Given the description of an element on the screen output the (x, y) to click on. 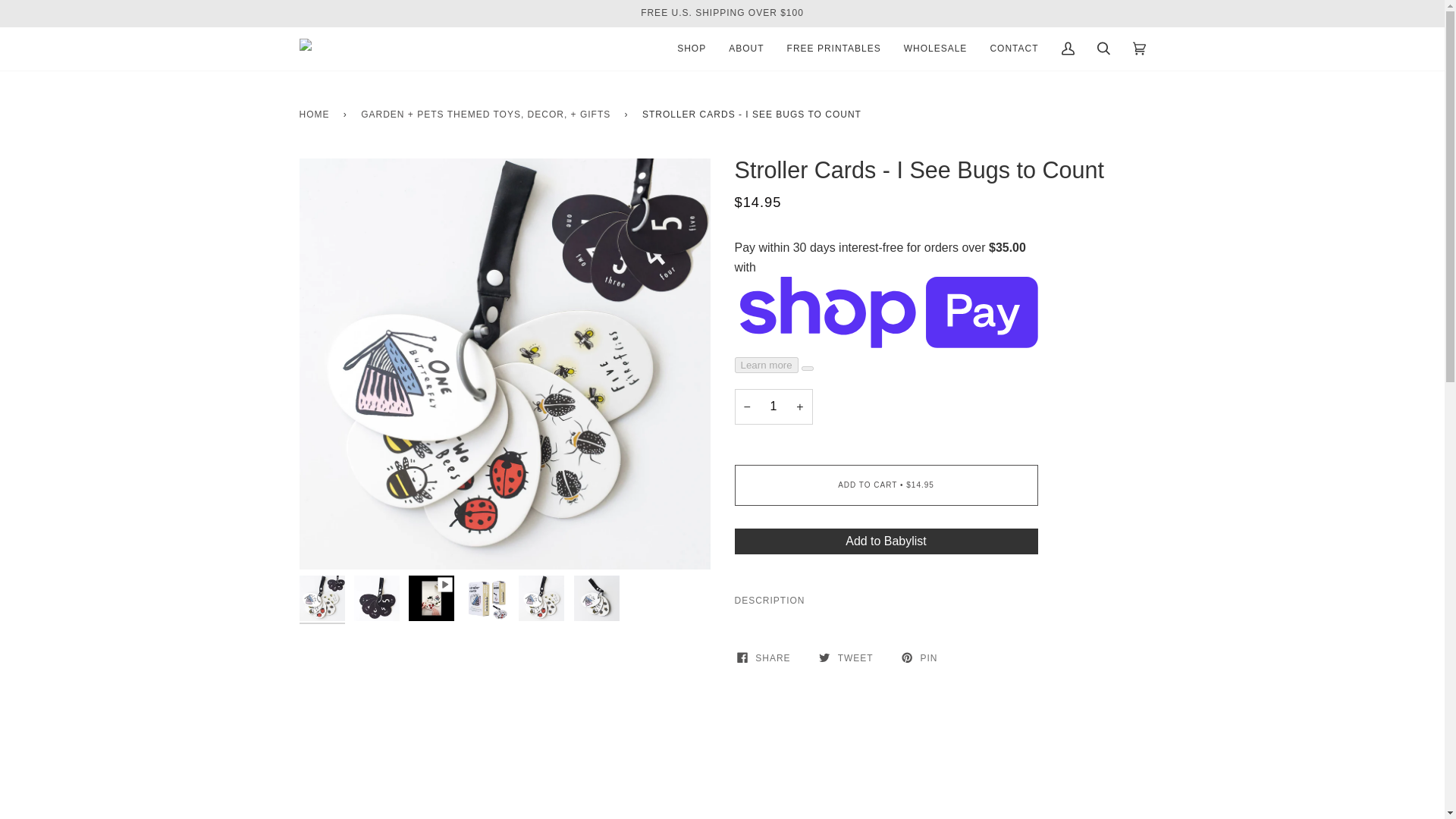
Back to the frontpage (316, 114)
1 (772, 407)
SHOP (691, 48)
